Given the description of an element on the screen output the (x, y) to click on. 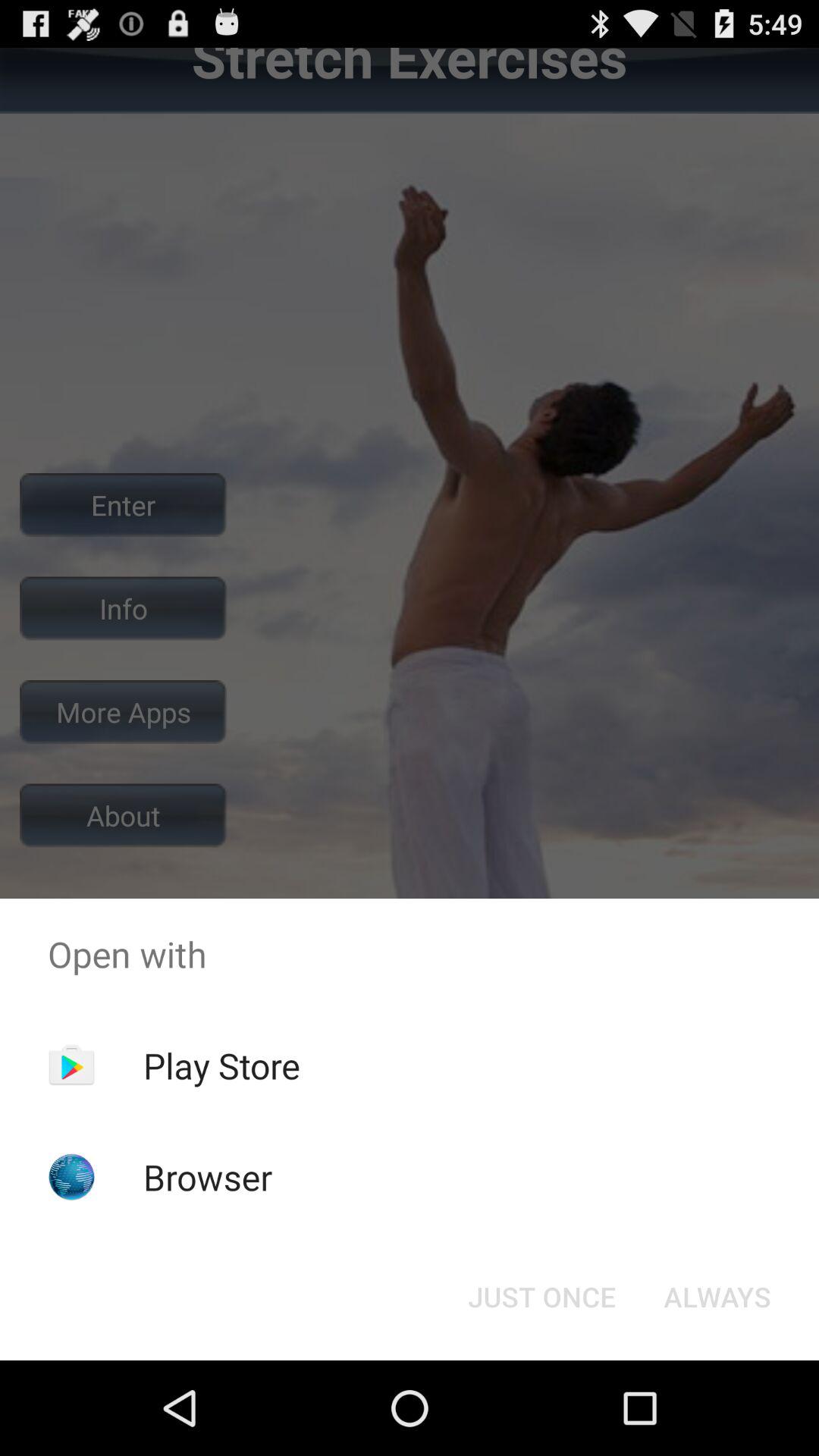
flip until always icon (717, 1296)
